Given the description of an element on the screen output the (x, y) to click on. 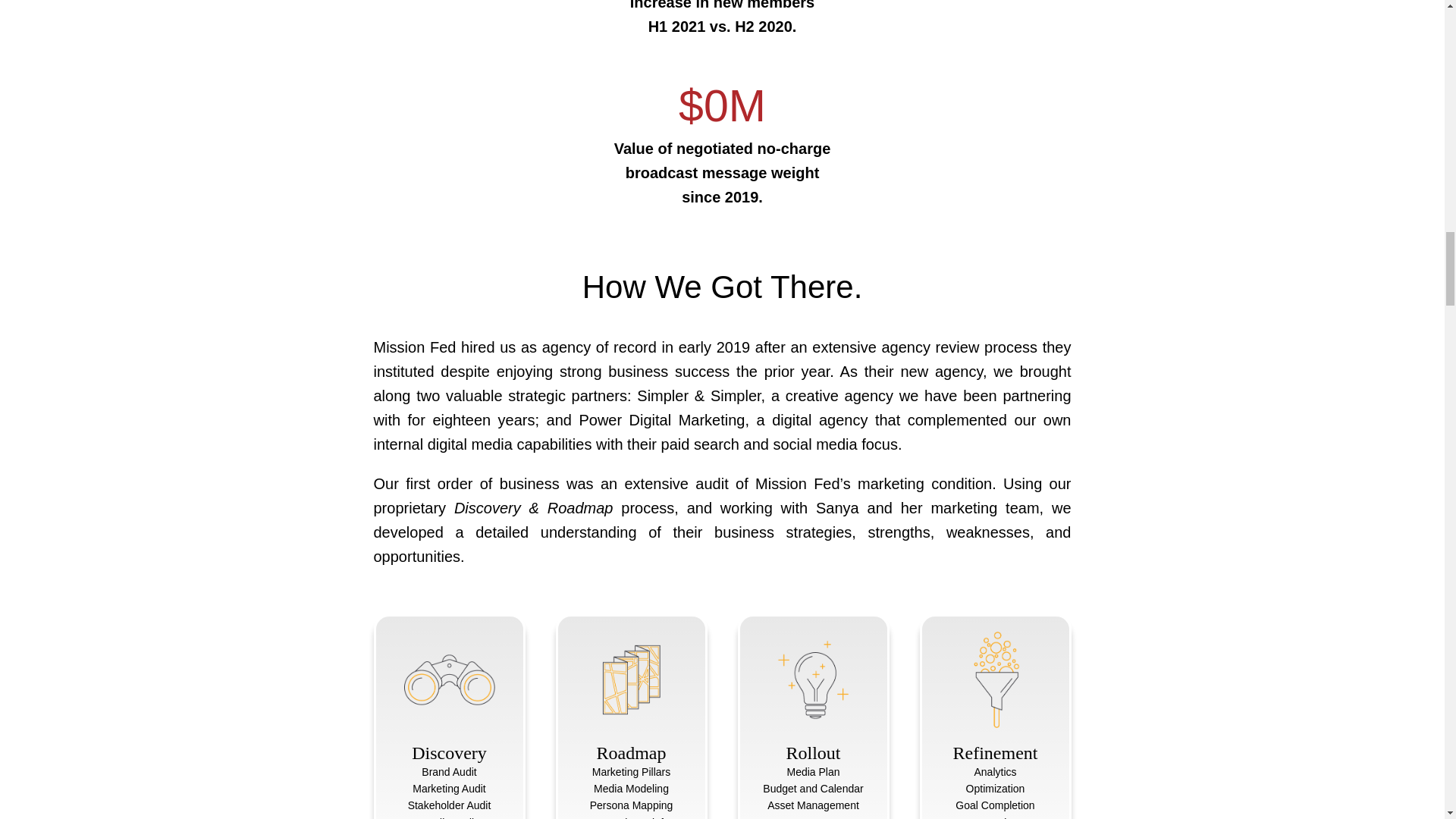
refinement (995, 679)
roadmap (631, 679)
discovery (449, 679)
rollout (813, 679)
